Given the description of an element on the screen output the (x, y) to click on. 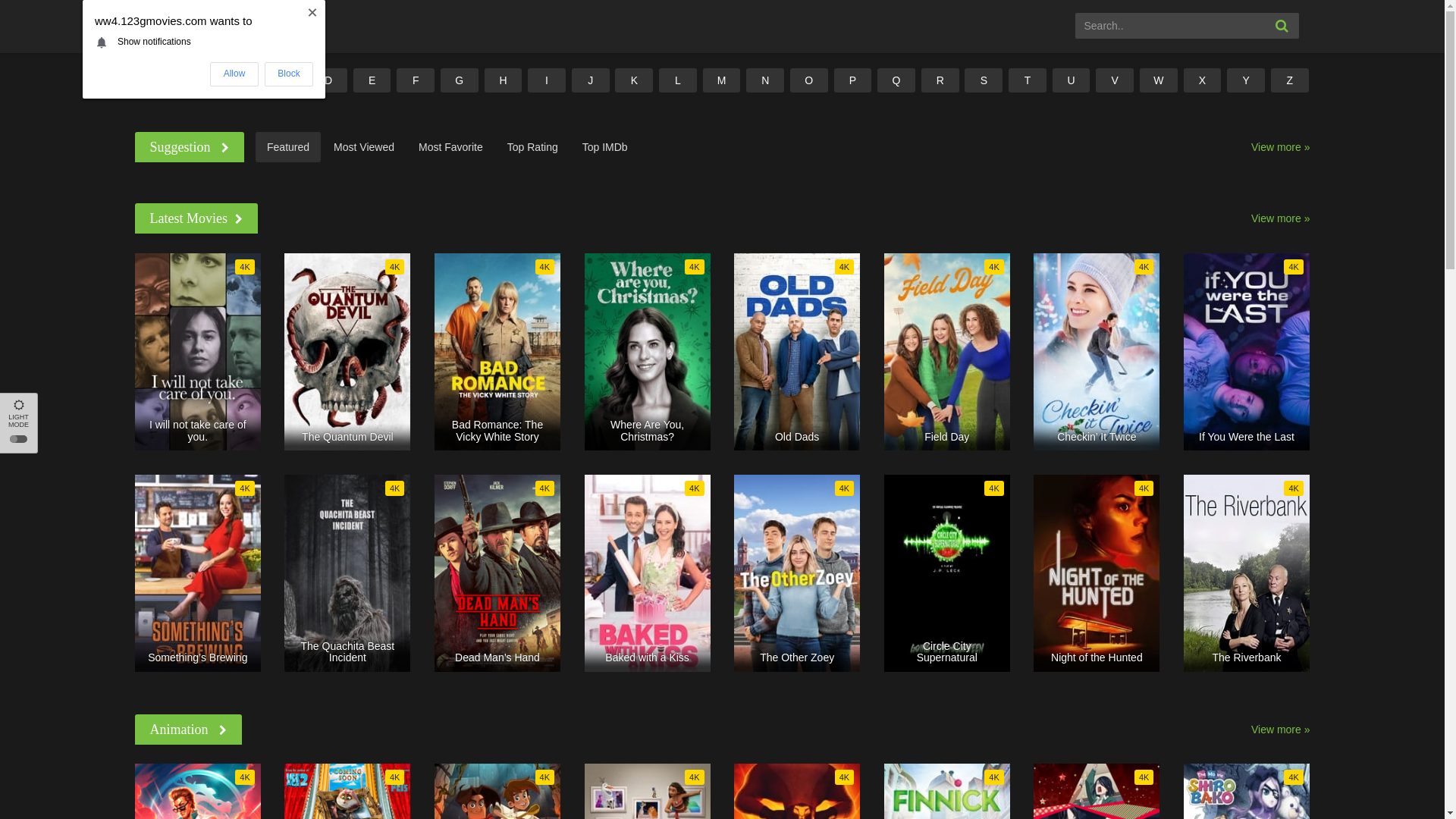
K Element type: text (633, 80)
4K
The Riverbank Element type: text (1246, 572)
D Element type: text (328, 80)
M Element type: text (721, 80)
4K
If You Were the Last Element type: text (1246, 351)
N Element type: text (765, 80)
C Element type: text (284, 80)
J Element type: text (590, 80)
4K
Circle City Supernatural Element type: text (947, 572)
4K
The Quantum Devil Element type: text (347, 351)
4K
I will not take care of you. Element type: text (197, 351)
4K
The Other Zoey Element type: text (796, 572)
123GMovies Element type: hover (205, 24)
# Element type: text (153, 80)
E Element type: text (372, 80)
Featured Element type: text (287, 146)
O Element type: text (809, 80)
Top Rating Element type: text (532, 146)
Q Element type: text (896, 80)
W Element type: text (1158, 80)
P Element type: text (853, 80)
4K
Bad Romance: The Vicky White Story Element type: text (497, 351)
I Element type: text (546, 80)
4K
Field Day Element type: text (947, 351)
Z Element type: text (1289, 80)
S Element type: text (983, 80)
G Element type: text (459, 80)
B Element type: text (241, 80)
4K
The Quachita Beast Incident Element type: text (347, 572)
Y Element type: text (1245, 80)
X Element type: text (1202, 80)
4K
Where Are You, Christmas? Element type: text (647, 351)
U Element type: text (1071, 80)
Most Favorite Element type: text (450, 146)
4K
Old Dads Element type: text (796, 351)
T Element type: text (1027, 80)
L Element type: text (677, 80)
H Element type: text (503, 80)
V Element type: text (1114, 80)
Top IMDb Element type: text (605, 146)
F Element type: text (415, 80)
4K
Baked with a Kiss Element type: text (647, 572)
A Element type: text (197, 80)
Most Viewed Element type: text (363, 146)
4K
Night of the Hunted Element type: text (1096, 572)
R Element type: text (940, 80)
